Given the description of an element on the screen output the (x, y) to click on. 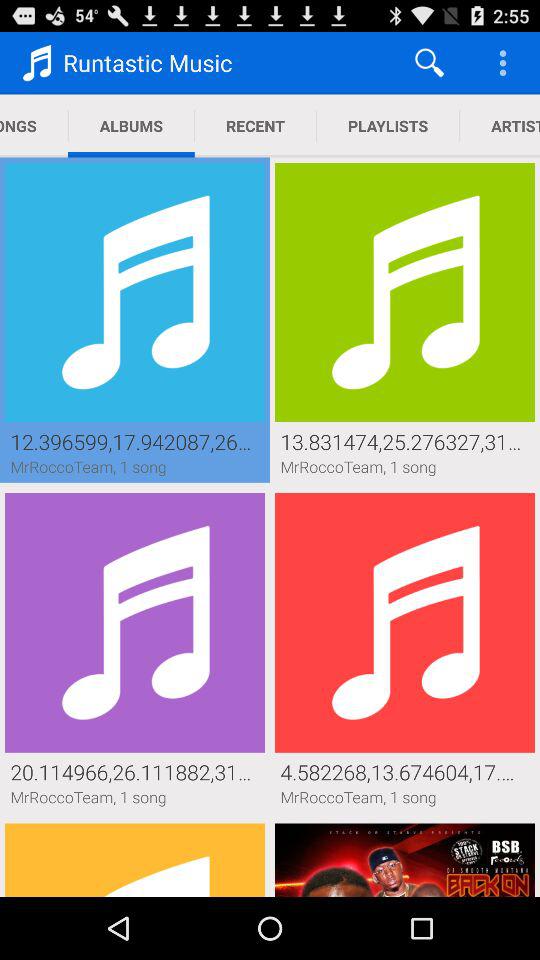
scroll until the songs item (34, 125)
